Given the description of an element on the screen output the (x, y) to click on. 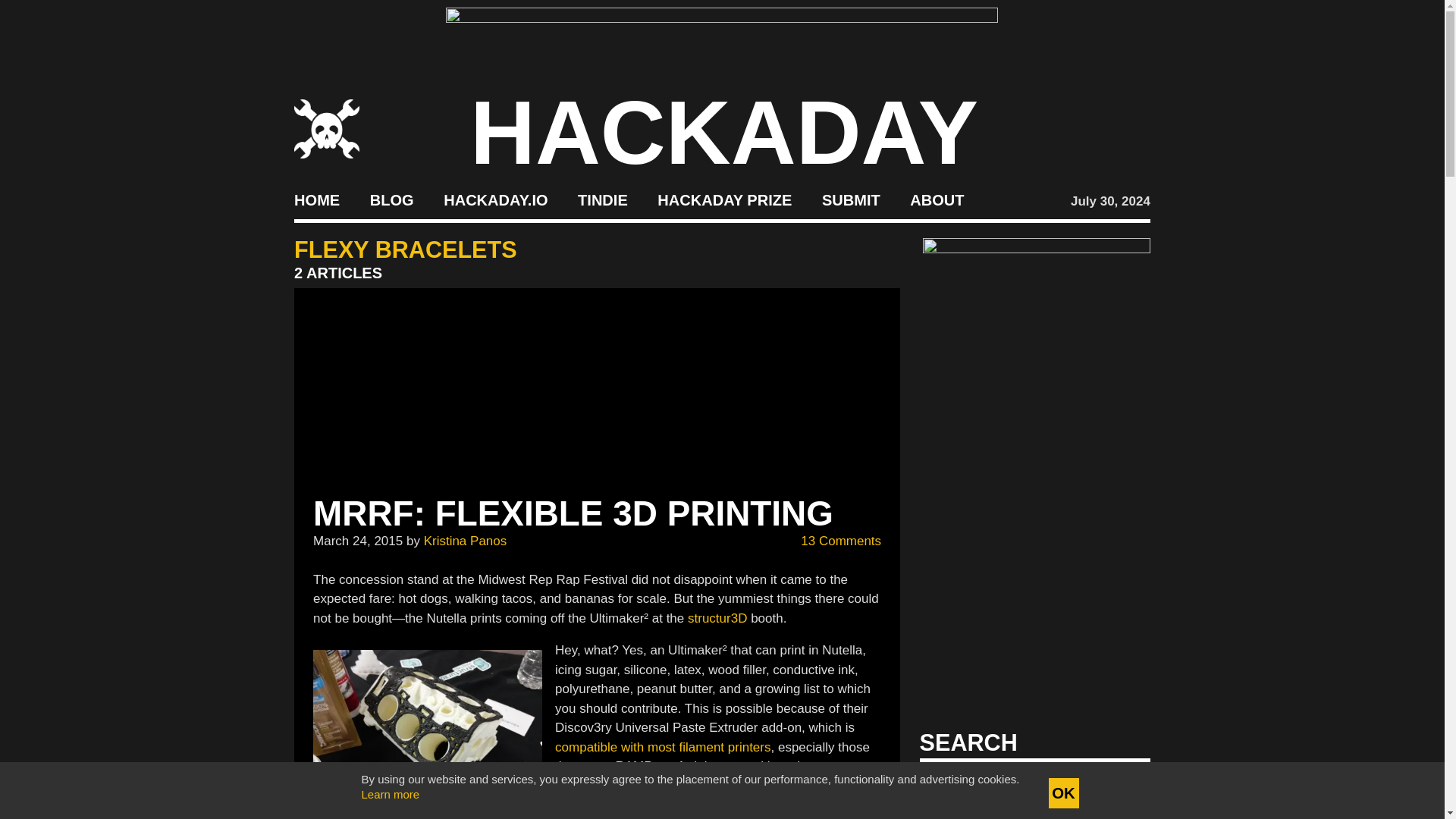
March 24, 2015 (358, 540)
March 24, 2015 - 10:01 am (358, 540)
MRRF: FLEXIBLE 3D PRINTING (572, 513)
HOME (316, 200)
Build Something that Matters (725, 200)
BLOG (391, 200)
HACKADAY (724, 131)
SUBMIT (851, 200)
Kristina Panos (464, 540)
Posts by Kristina Panos (464, 540)
13 Comments (832, 541)
compatible with most filament printers (662, 747)
HACKADAY PRIZE (725, 200)
ABOUT (936, 200)
TINDIE (602, 200)
